Given the description of an element on the screen output the (x, y) to click on. 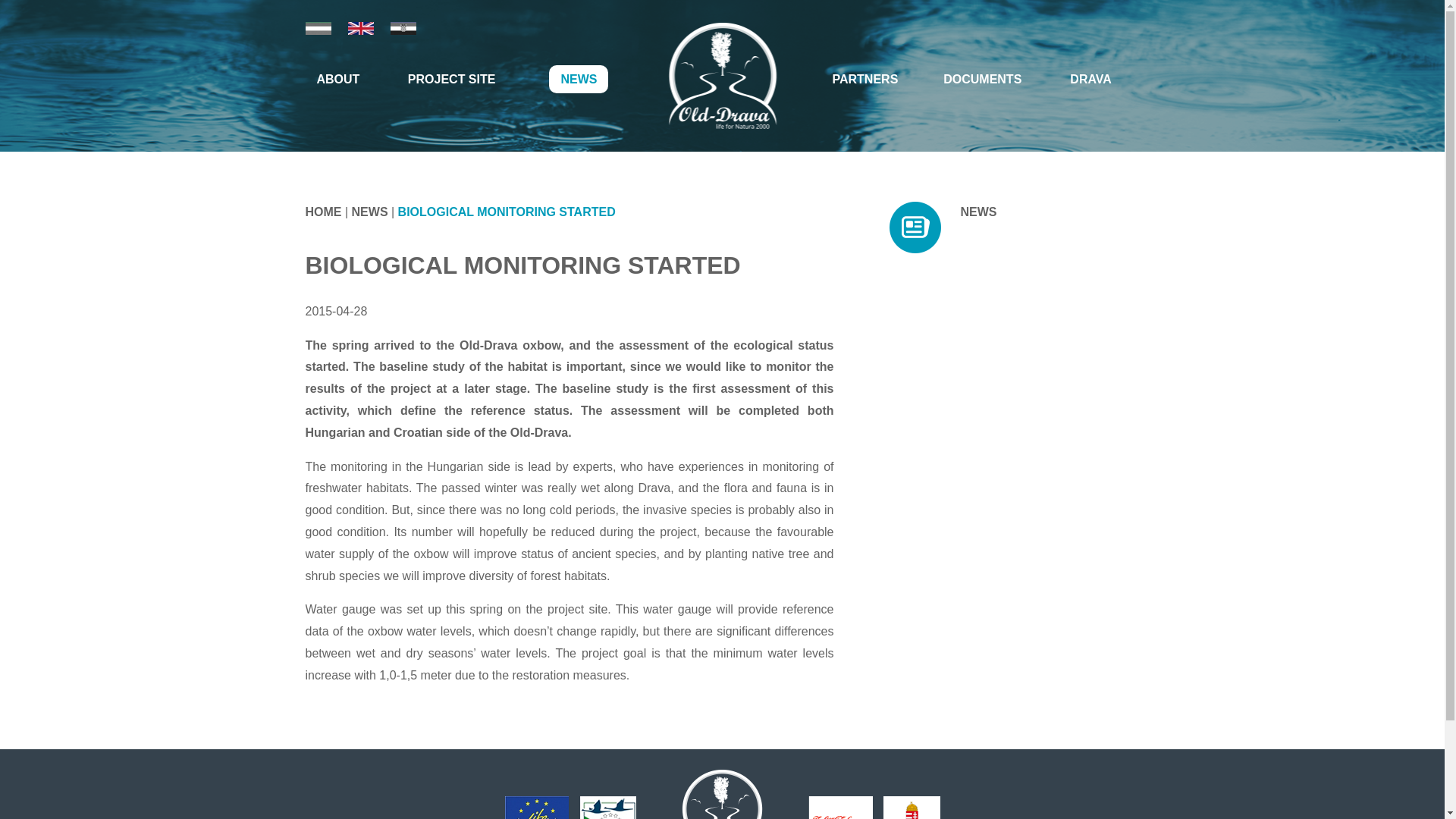
HR (402, 28)
NEWS (370, 211)
BIOLOGICAL MONITORING STARTED (506, 211)
HU (317, 28)
PARTNERS (864, 79)
EN (359, 28)
HOME (322, 211)
DOCUMENTS (981, 79)
DRAVA (1090, 79)
HR (402, 28)
NEWS (977, 211)
HU (317, 28)
NEWS (578, 79)
EN (359, 28)
ABOUT (337, 79)
